Given the description of an element on the screen output the (x, y) to click on. 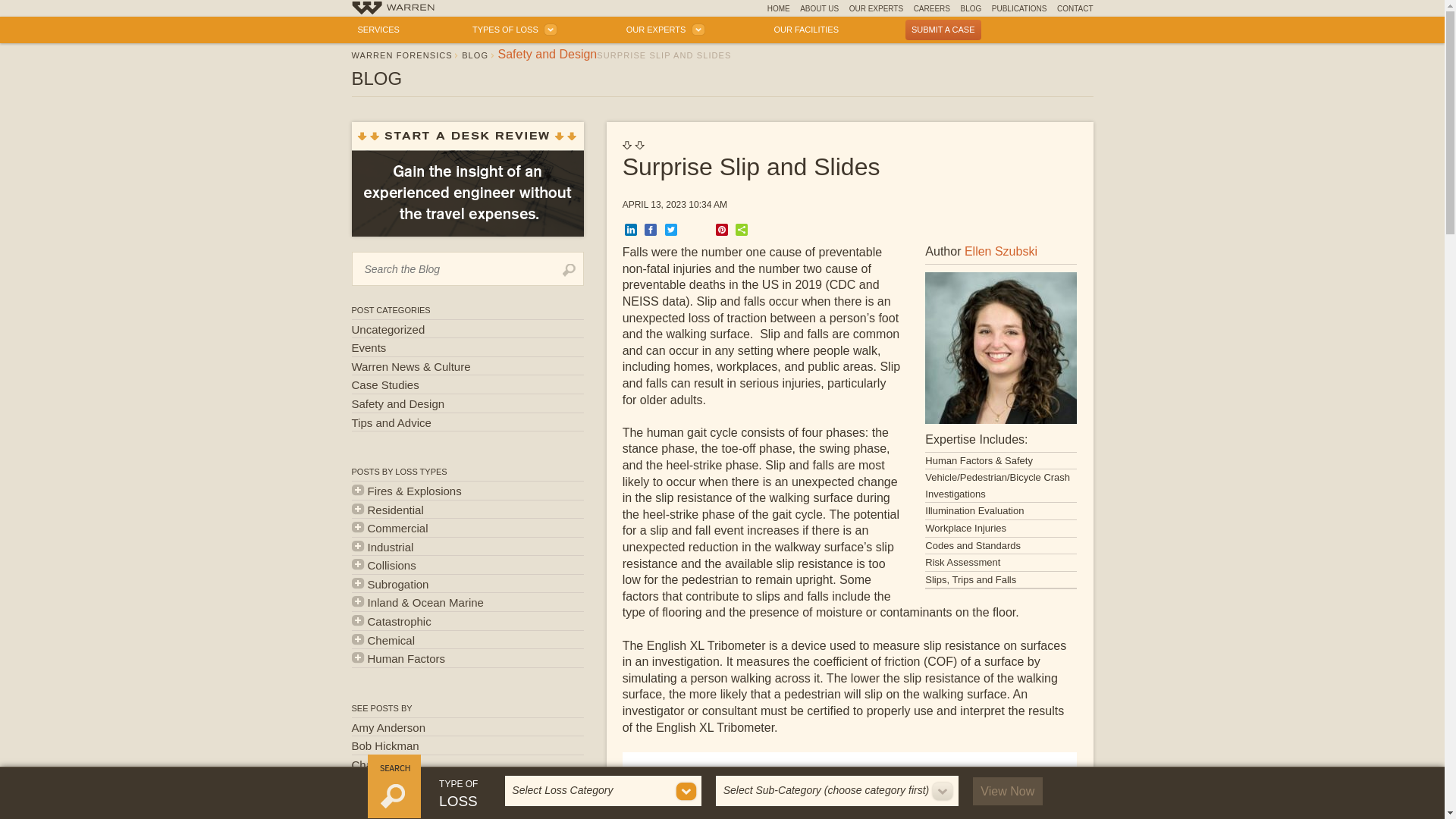
Posts by Jeffery H. Warren (467, 815)
Posts by Ellen Szubski (467, 782)
Warren Forensics (392, 8)
SUBMIT A CASE (943, 29)
PUBLICATIONS (1018, 8)
CAREERS (932, 8)
Go to Warren Forensics. (402, 54)
Posts by J. Steven Hunt (467, 801)
ABOUT US (818, 8)
Posts by Amy Anderson (467, 727)
Posts by Ellen Szubski (999, 250)
Posts by Bob Hickman (467, 745)
SERVICES (379, 29)
TYPES OF LOSS (512, 29)
Posts by Chad Jones (467, 764)
